Given the description of an element on the screen output the (x, y) to click on. 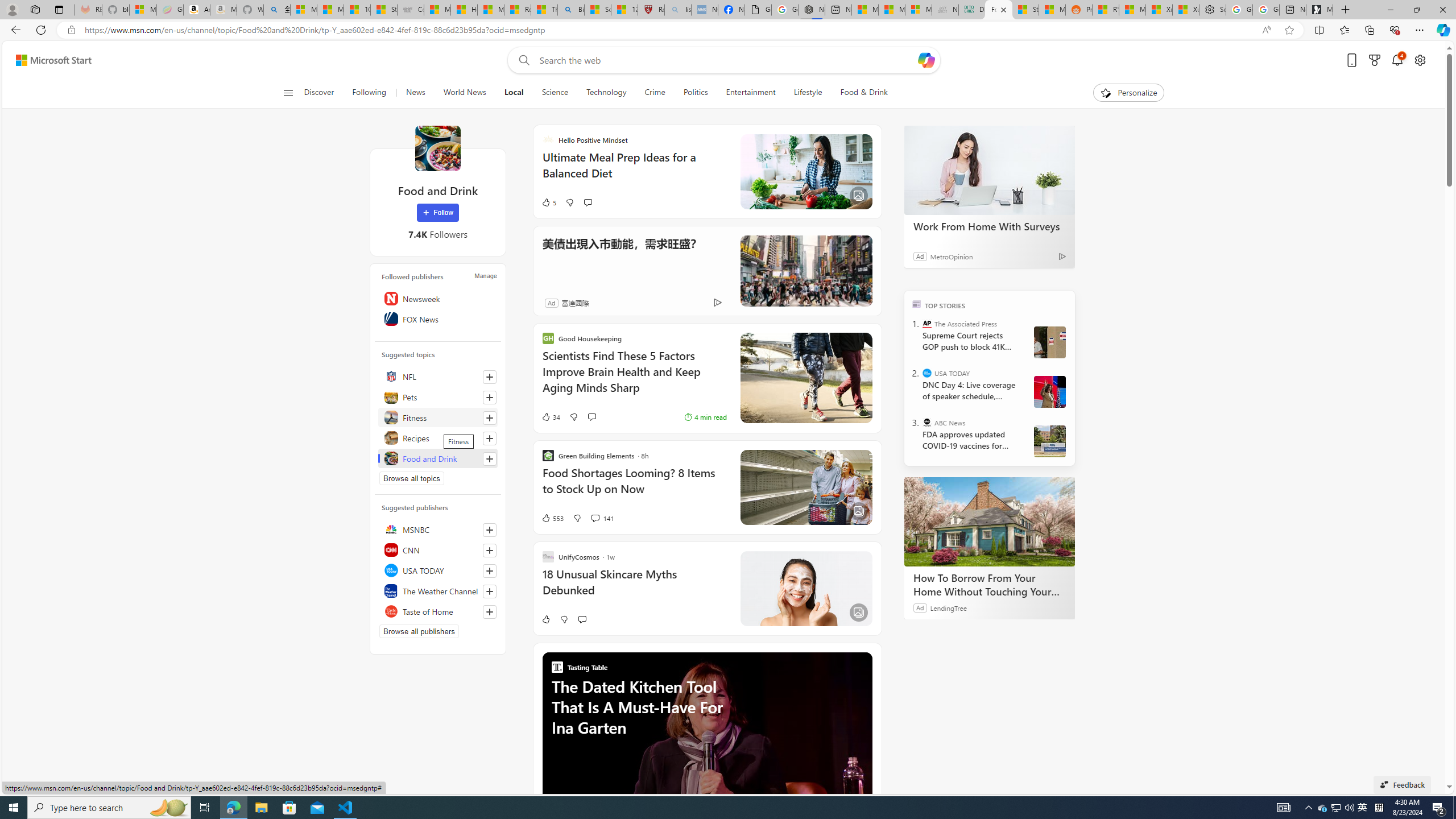
Robert H. Shmerling, MD - Harvard Health (651, 9)
Lifestyle (807, 92)
View comments 141 Comment (601, 517)
Politics (695, 92)
FOX News (437, 318)
Politics (694, 92)
